Given the description of an element on the screen output the (x, y) to click on. 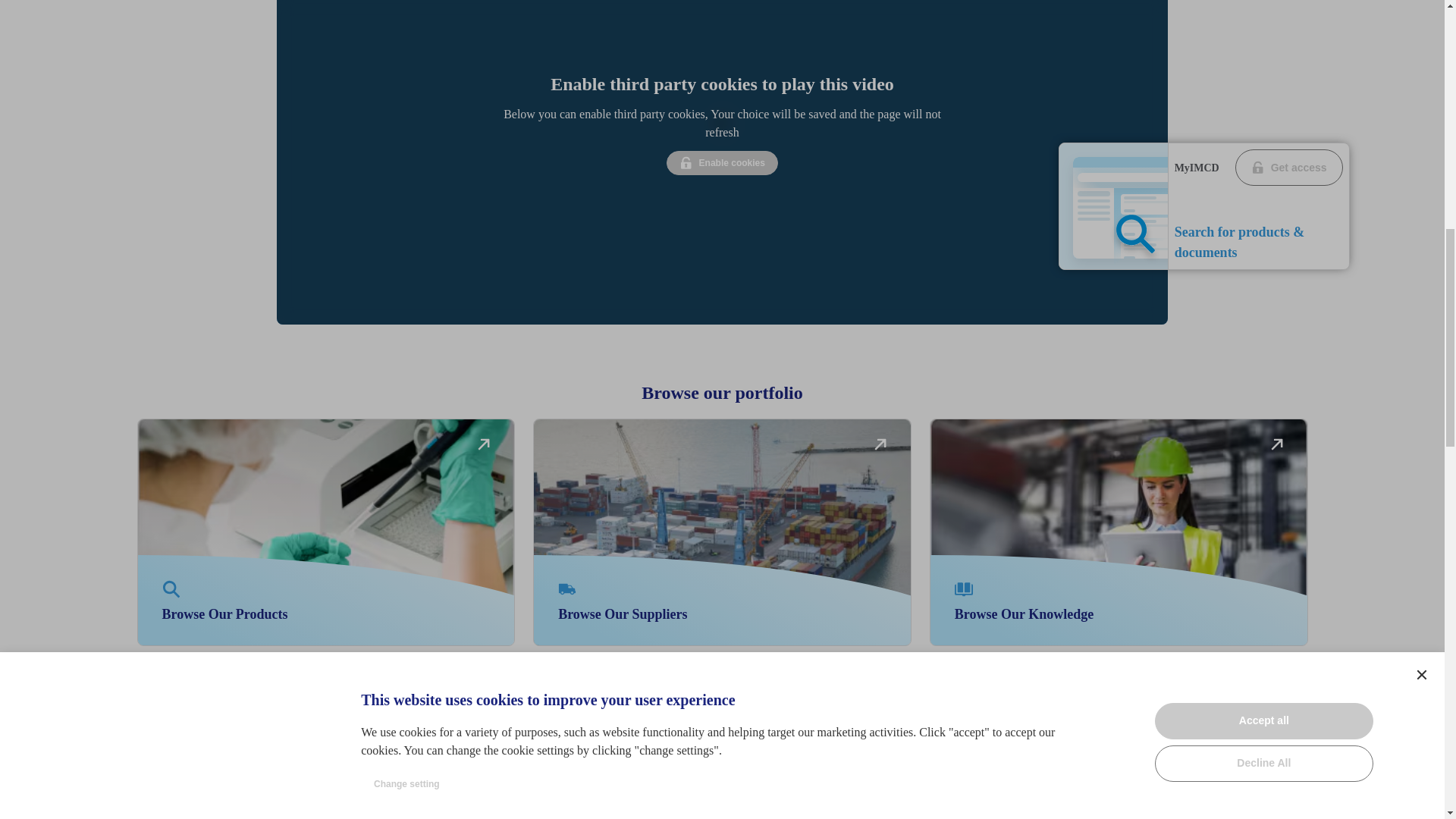
Get access (1118, 532)
Browse our Product (1288, 167)
Browse our Product (170, 588)
Browse our Suppliers (1276, 443)
Browse our Knowledge (566, 588)
Enable cookies (963, 588)
Browse our Product (325, 532)
Browse our Product (721, 162)
